Given the description of an element on the screen output the (x, y) to click on. 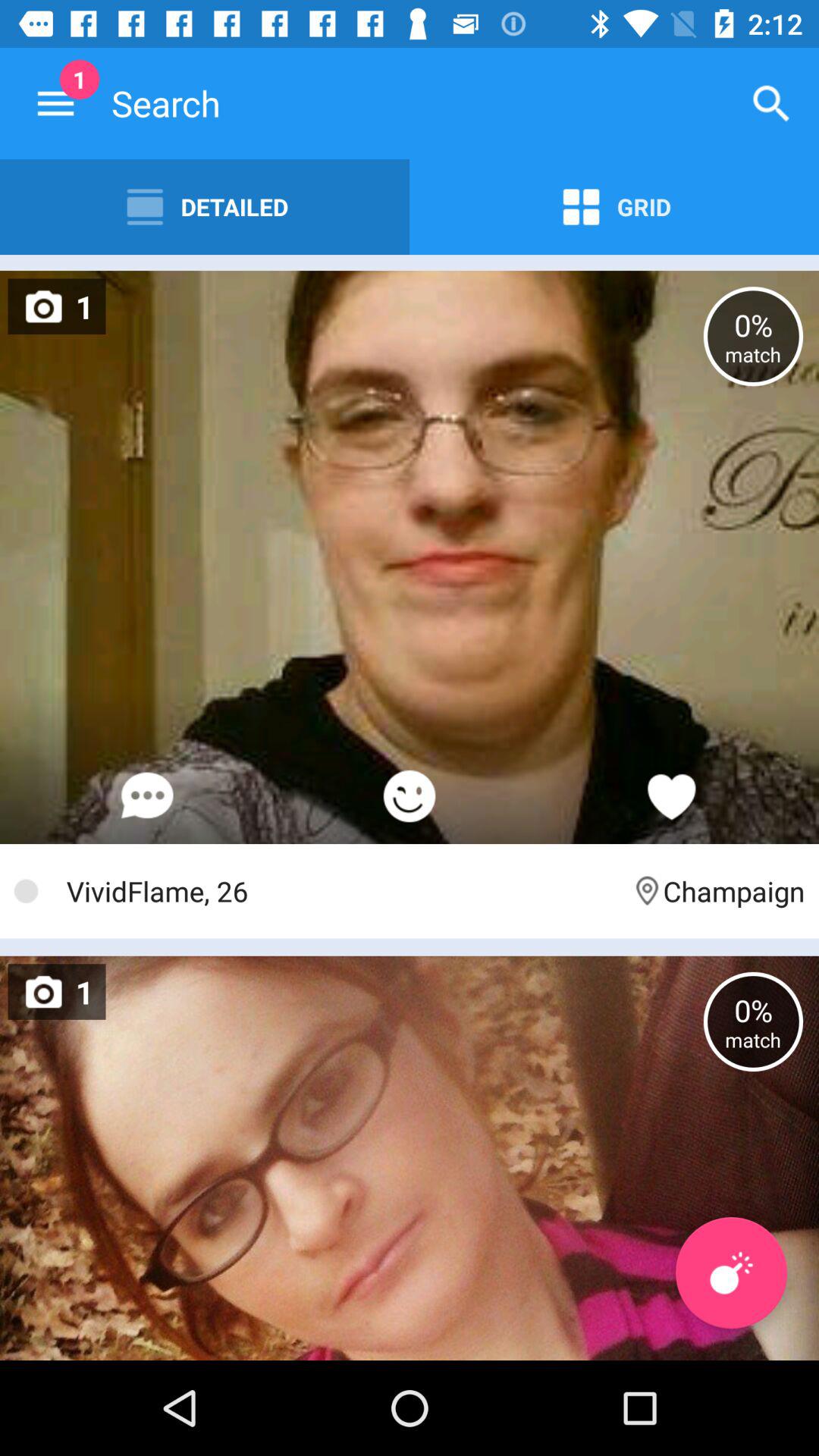
choose the icon to the left of detailed icon (55, 103)
